Given the description of an element on the screen output the (x, y) to click on. 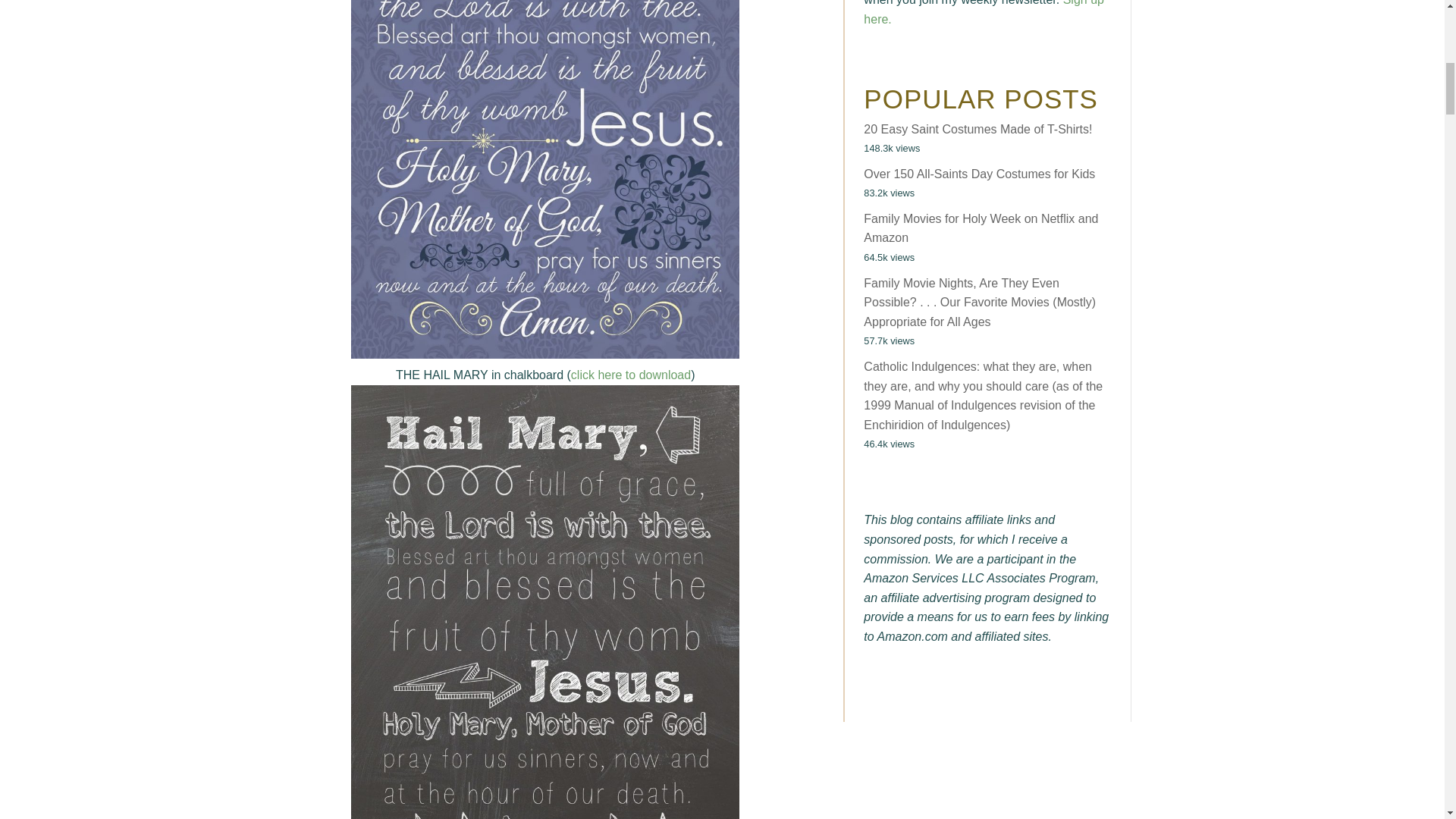
click here to download (630, 374)
